Given the description of an element on the screen output the (x, y) to click on. 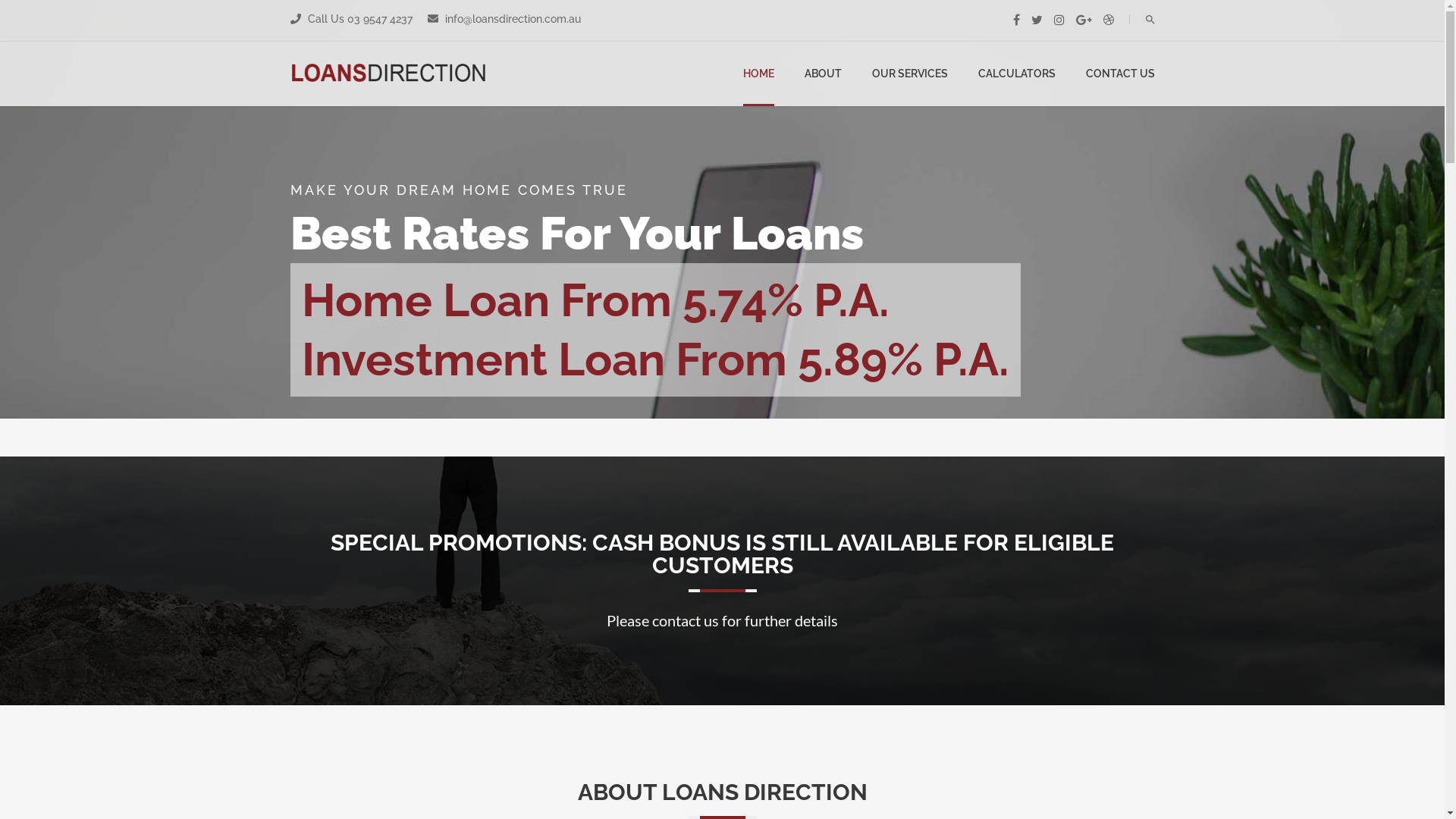
Facebook Element type: hover (1016, 19)
CALCULATORS Element type: text (1016, 73)
Instagram Element type: hover (1059, 19)
OUR SERVICES Element type: text (909, 73)
Call Us 03 9547 4237 Element type: text (358, 18)
ABOUT Element type: text (821, 73)
info@loansdirection.com.au Element type: text (510, 18)
HOME Element type: text (758, 73)
CONTACT US Element type: text (1119, 73)
Loans Direction Element type: hover (387, 74)
Google-plus Element type: hover (1083, 19)
Dribbble Element type: hover (1107, 19)
Twitter Element type: hover (1036, 19)
